Given the description of an element on the screen output the (x, y) to click on. 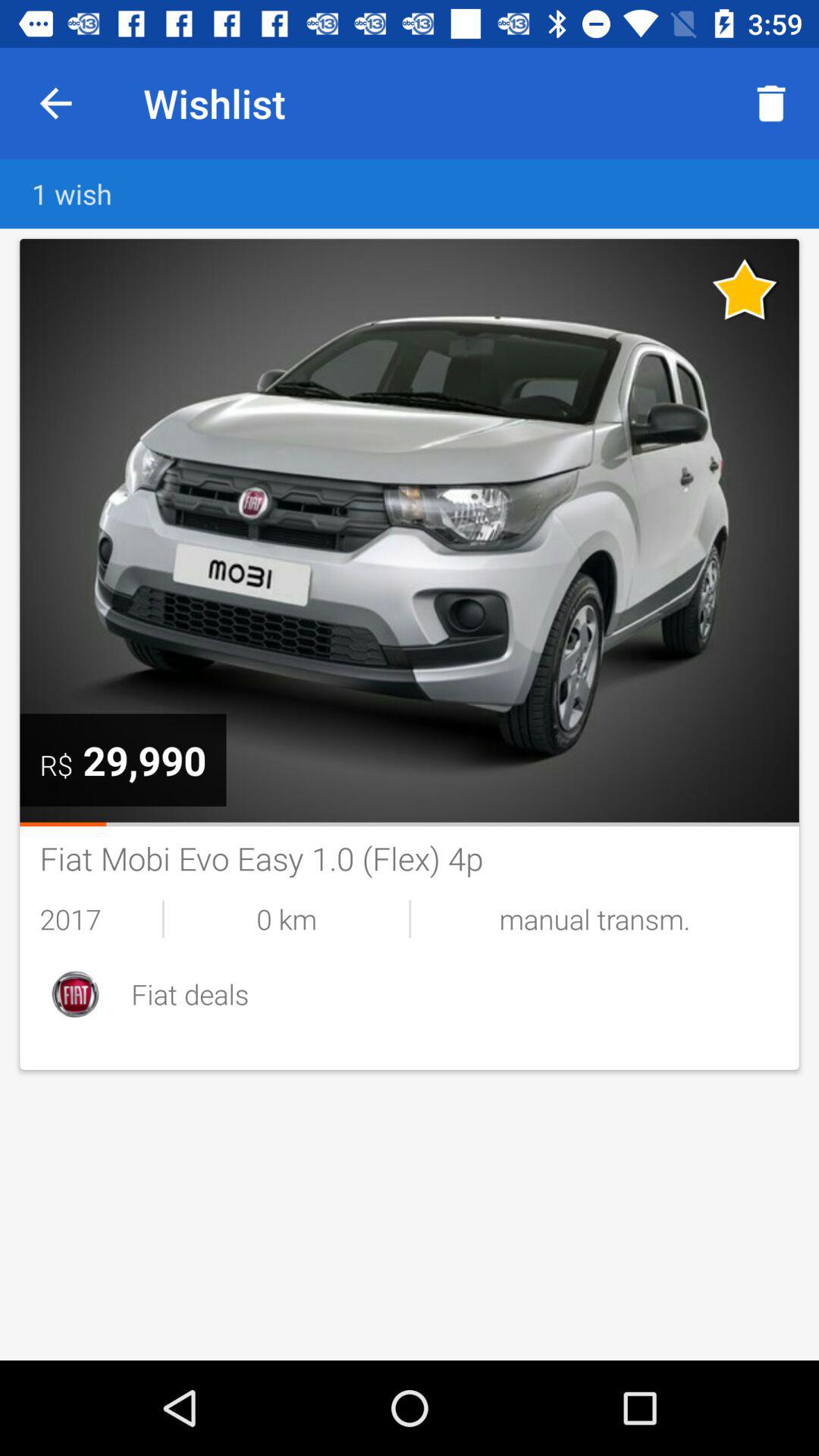
add to your wishlist (745, 288)
